Given the description of an element on the screen output the (x, y) to click on. 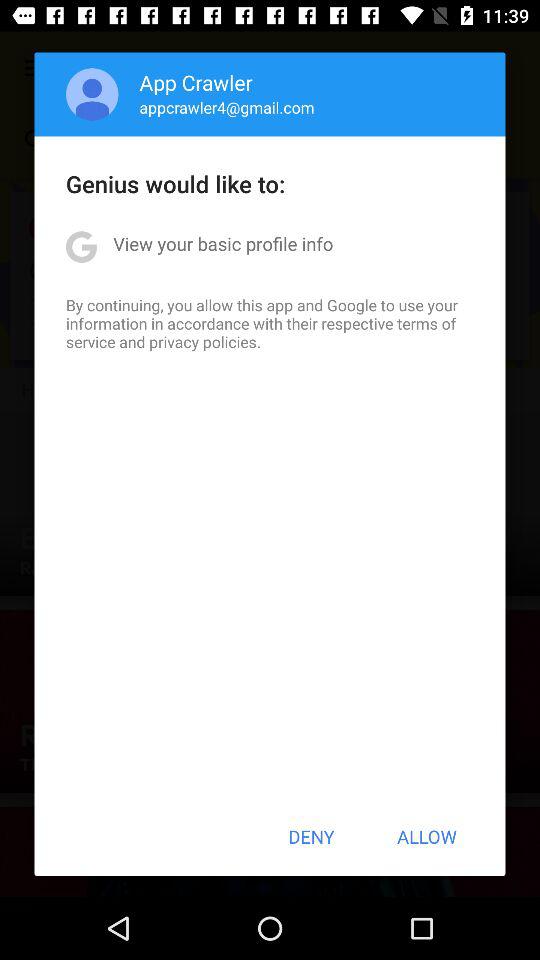
swipe until the deny item (311, 836)
